Given the description of an element on the screen output the (x, y) to click on. 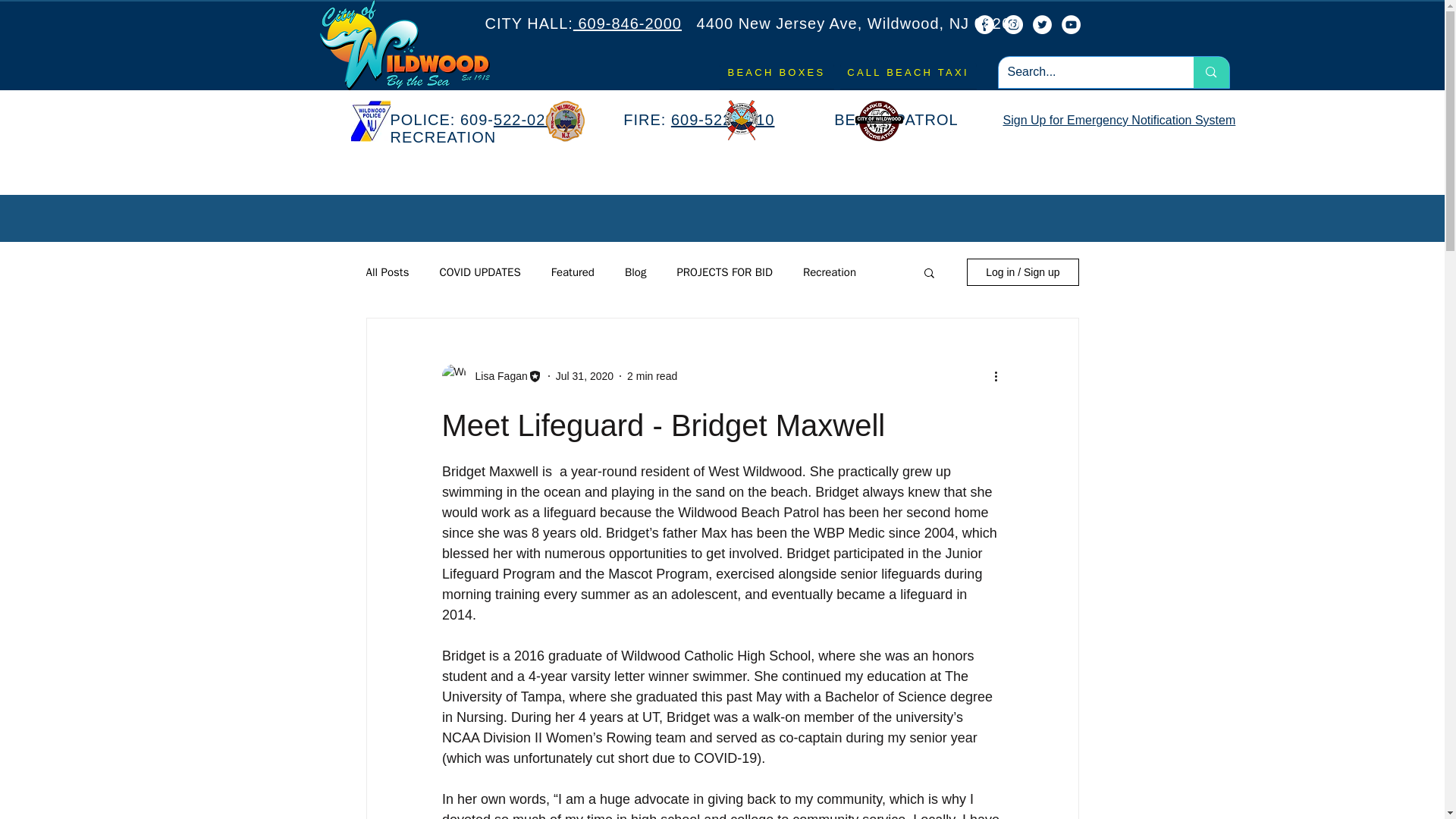
609-846-2000 (627, 23)
PROJECTS FOR BID (724, 272)
BEACH BOXES (775, 72)
CALL BEACH TAXI (908, 72)
2 min read (652, 376)
Recreation (829, 272)
Featured (572, 272)
609-522-1110 (722, 119)
Jul 31, 2020 (584, 376)
COVID UPDATES (479, 272)
522-0222  (531, 119)
Sign Up for Emergency Notification System (1118, 119)
Lisa Fagan (496, 376)
Blog (635, 272)
All Posts (387, 272)
